Given the description of an element on the screen output the (x, y) to click on. 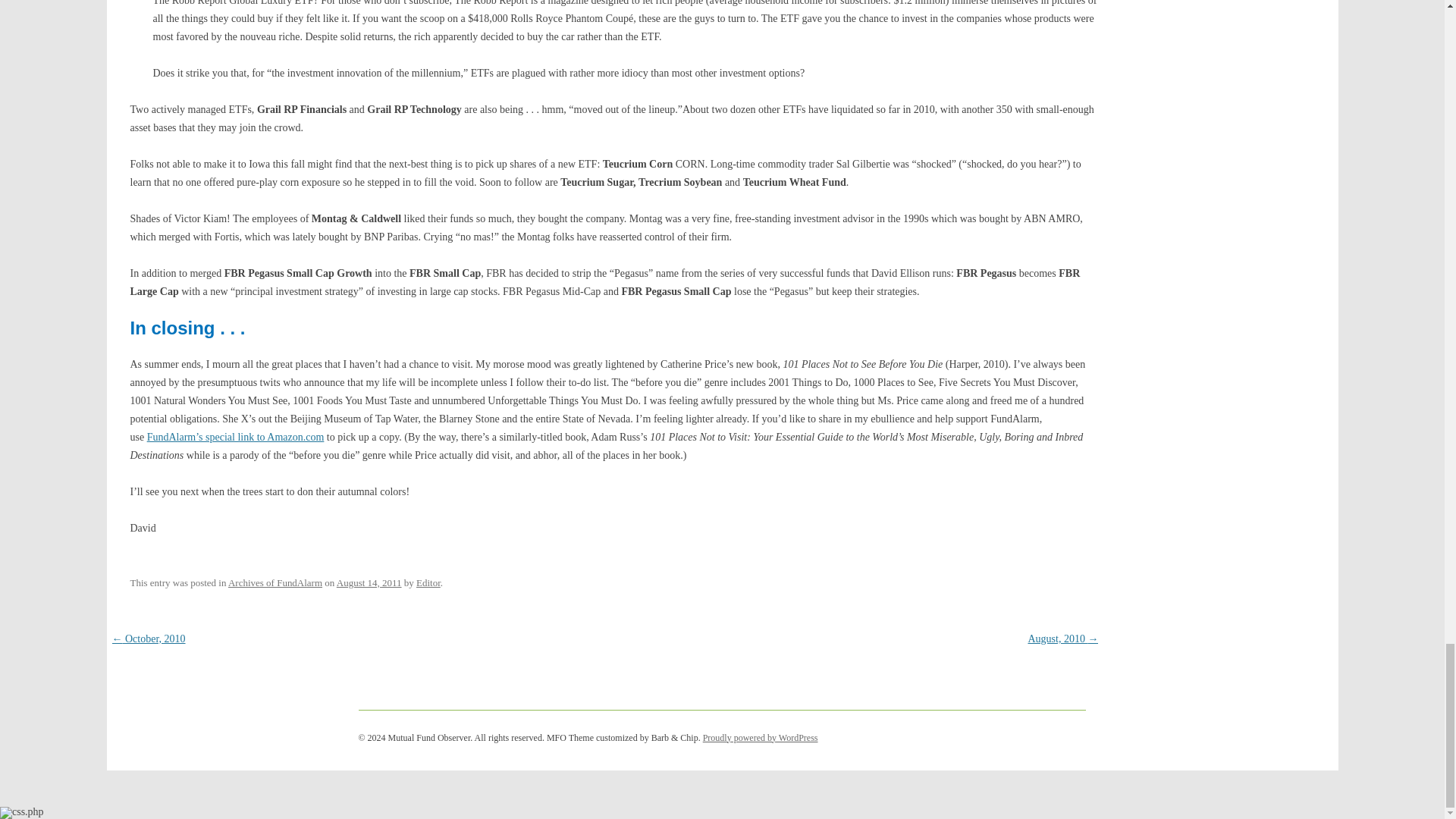
August 14, 2011 (368, 582)
Editor (428, 582)
View all posts by Editor (428, 582)
12:57 am (368, 582)
Semantic Personal Publishing Platform (760, 737)
Archives of FundAlarm (274, 582)
